Given the description of an element on the screen output the (x, y) to click on. 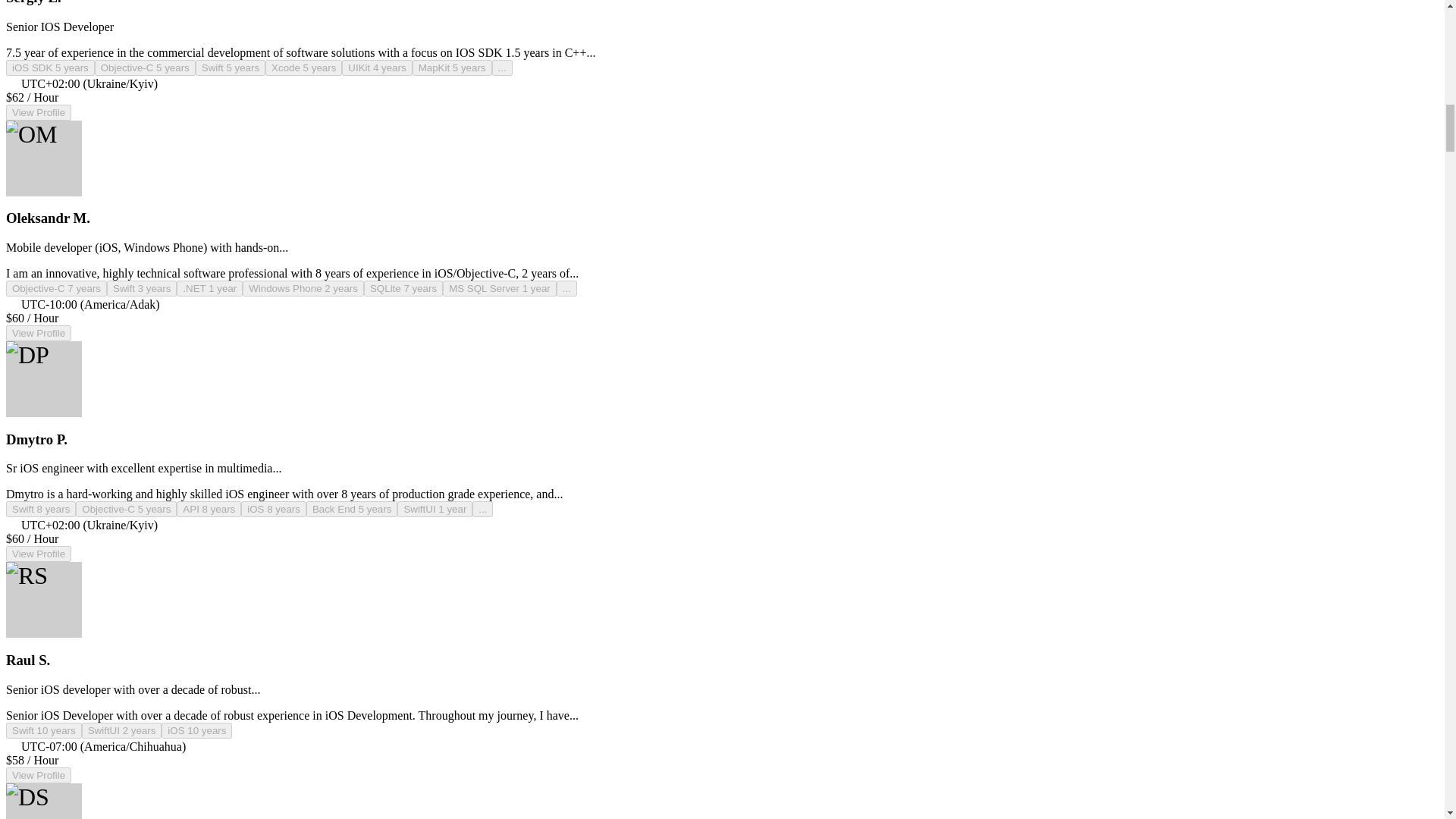
View Profile (38, 112)
MapKit 5 years (452, 67)
Swift 3 years (141, 288)
Objective-C 7 years (55, 288)
Objective-C 5 years (144, 67)
... (566, 288)
UIKit 4 years (377, 67)
... (502, 67)
.NET 1 year (209, 288)
Windows Phone 2 years (303, 288)
Xcode 5 years (303, 67)
SQLite 7 years (403, 288)
iOS SDK 5 years (49, 67)
MS SQL Server 1 year (499, 288)
Swift 5 years (229, 67)
